Given the description of an element on the screen output the (x, y) to click on. 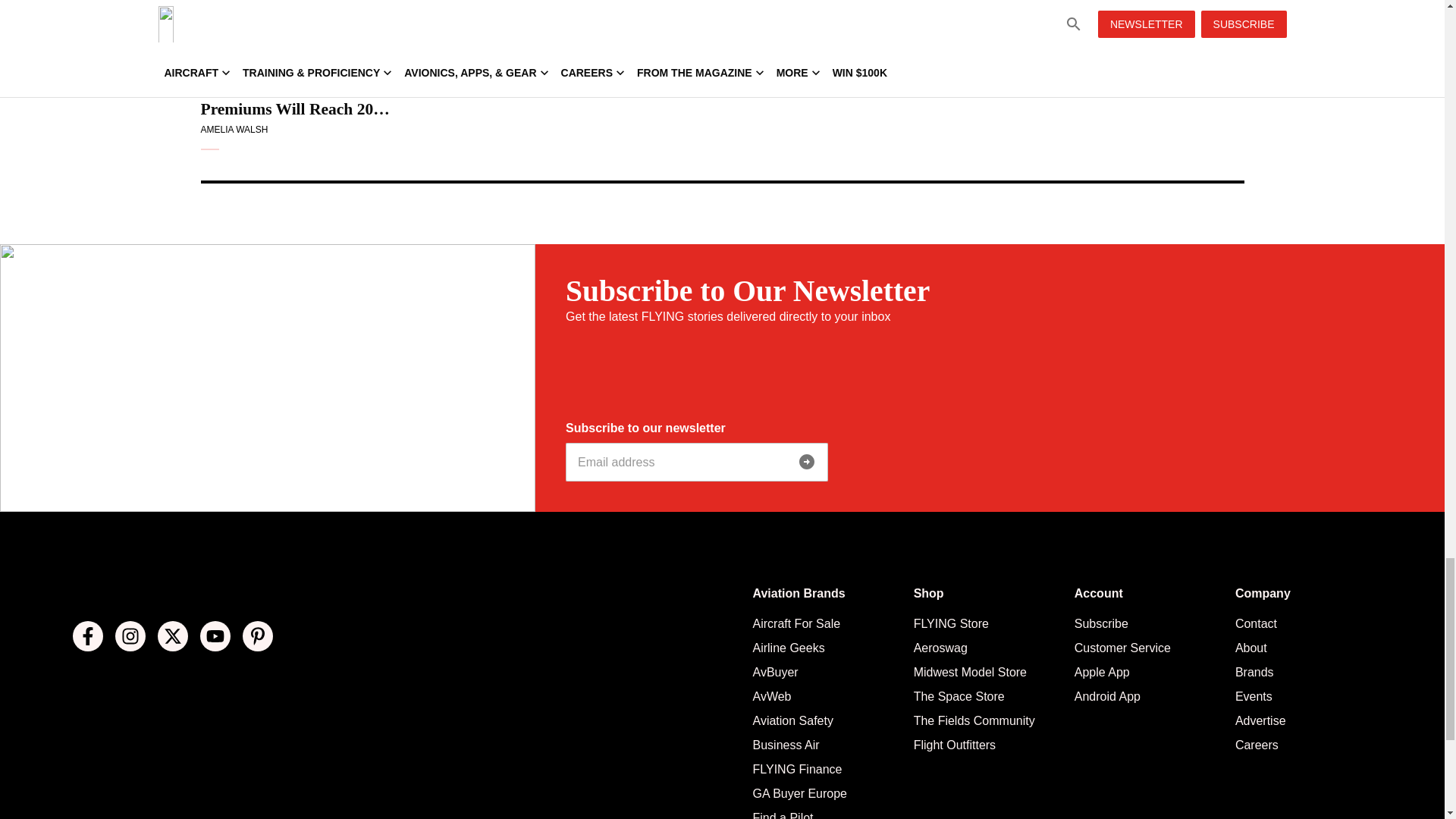
Instagram (130, 635)
Youtube (215, 635)
Submit (807, 461)
Facebook (87, 635)
Pinterest (258, 635)
Twitter (172, 635)
